Given the description of an element on the screen output the (x, y) to click on. 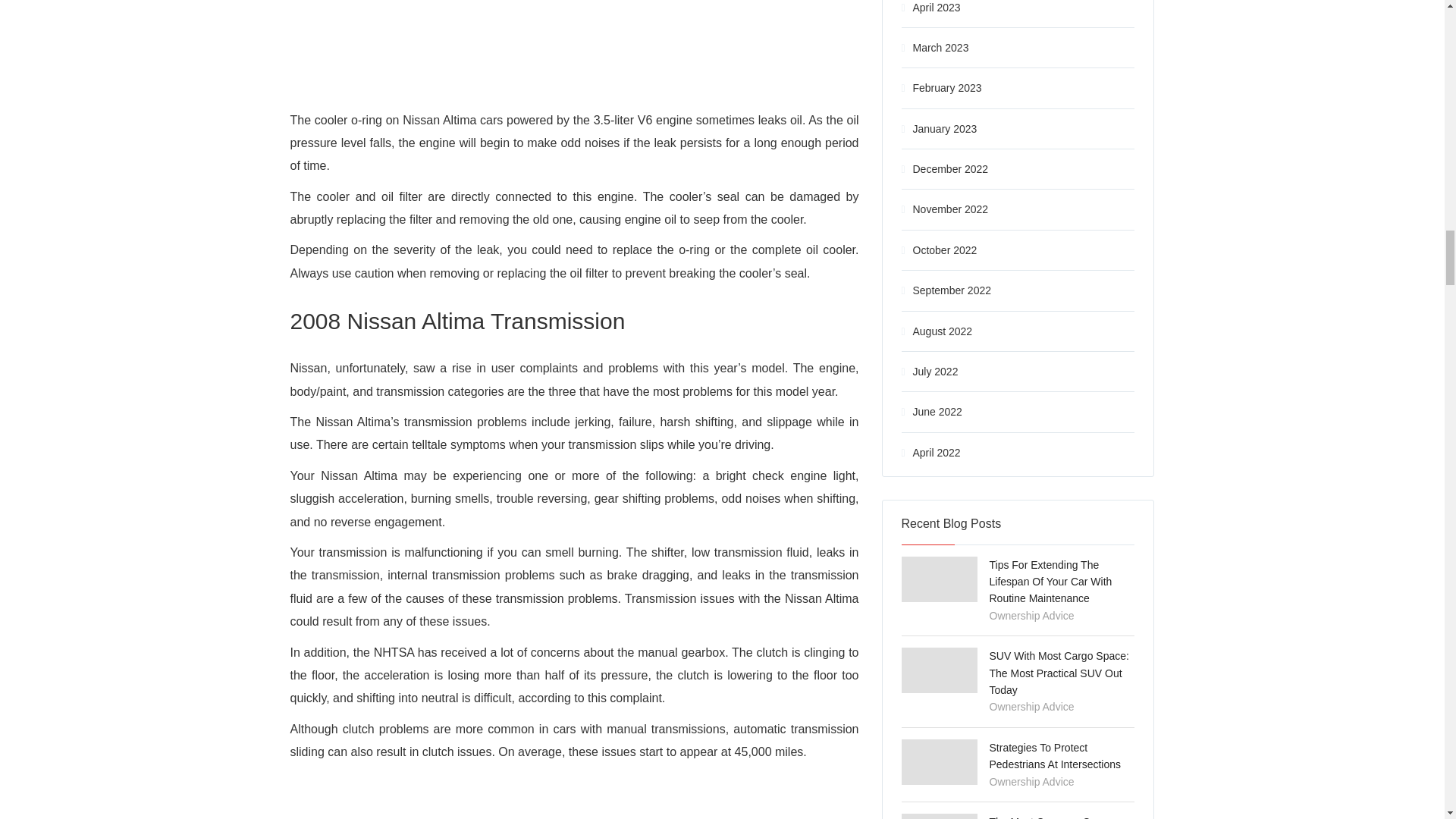
The Fatal Flaw of the Nissan Altima (574, 35)
